Given the description of an element on the screen output the (x, y) to click on. 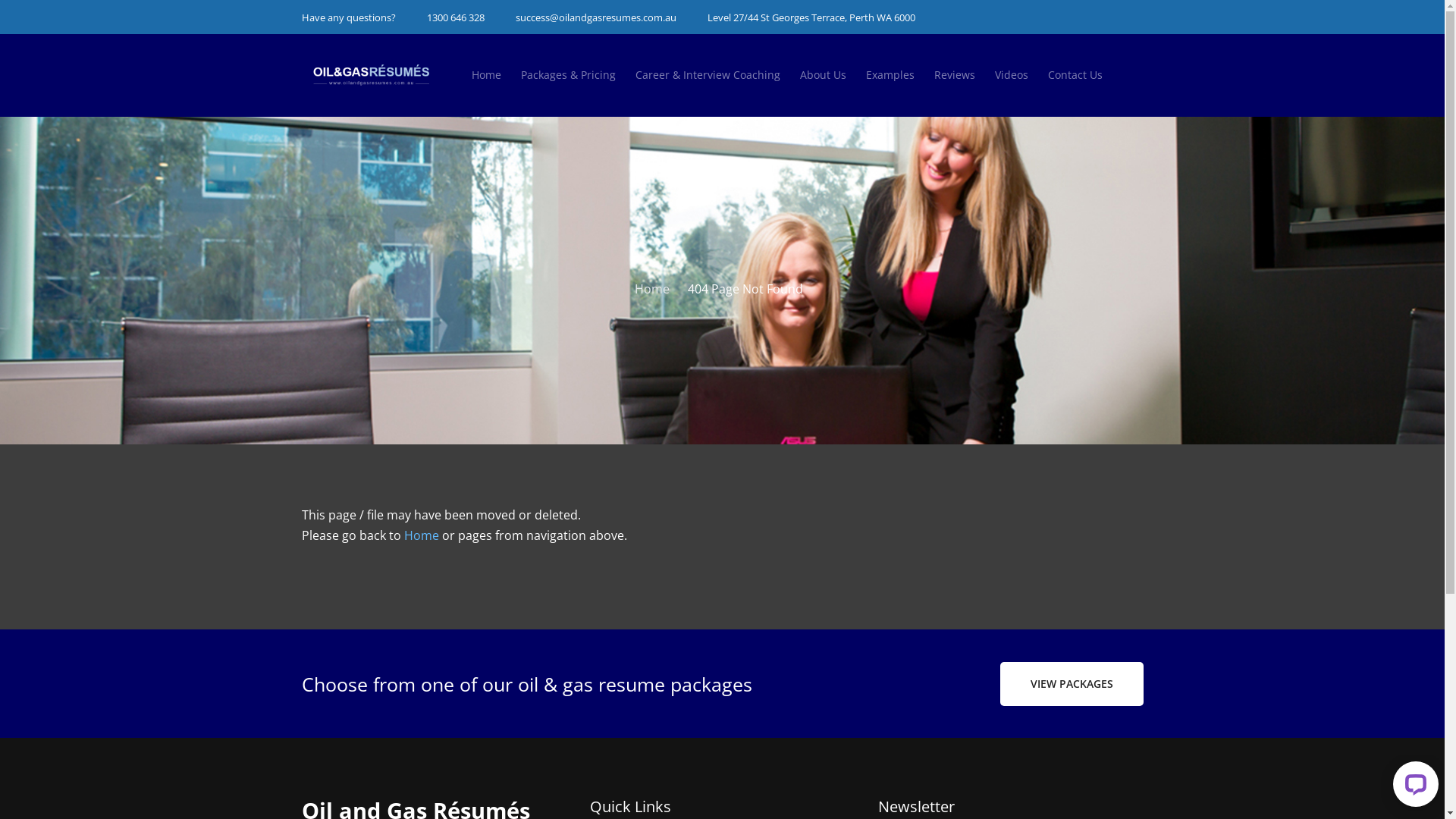
Reviews Element type: text (954, 74)
Home Element type: text (420, 535)
Examples Element type: text (890, 74)
success@oilandgasresumes.com.au Element type: text (595, 17)
Career & Interview Coaching Element type: text (707, 74)
facebook Element type: hover (1077, 13)
Contact Us Element type: text (1075, 74)
VIEW PACKAGES Element type: text (1070, 684)
Packages & Pricing Element type: text (567, 74)
1300 646 328 Element type: text (454, 17)
Videos Element type: text (1011, 74)
Home Element type: text (486, 74)
Youtube Element type: hover (1129, 13)
LinkedIn Element type: hover (1103, 13)
About Us Element type: text (822, 74)
Home Element type: text (650, 288)
